Given the description of an element on the screen output the (x, y) to click on. 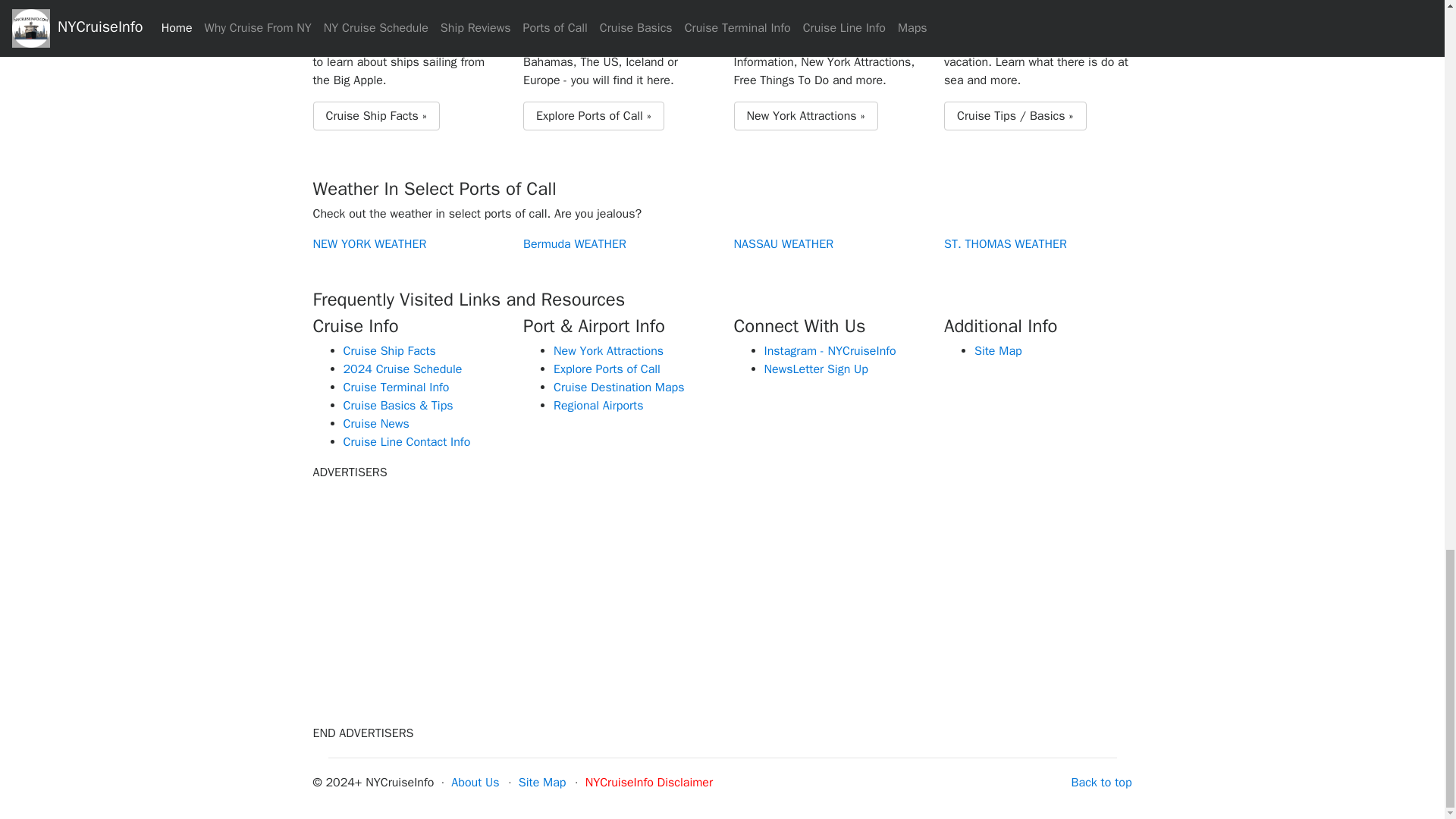
Advertisement (441, 599)
Advertisement (1002, 599)
Advertisement (721, 599)
